Given the description of an element on the screen output the (x, y) to click on. 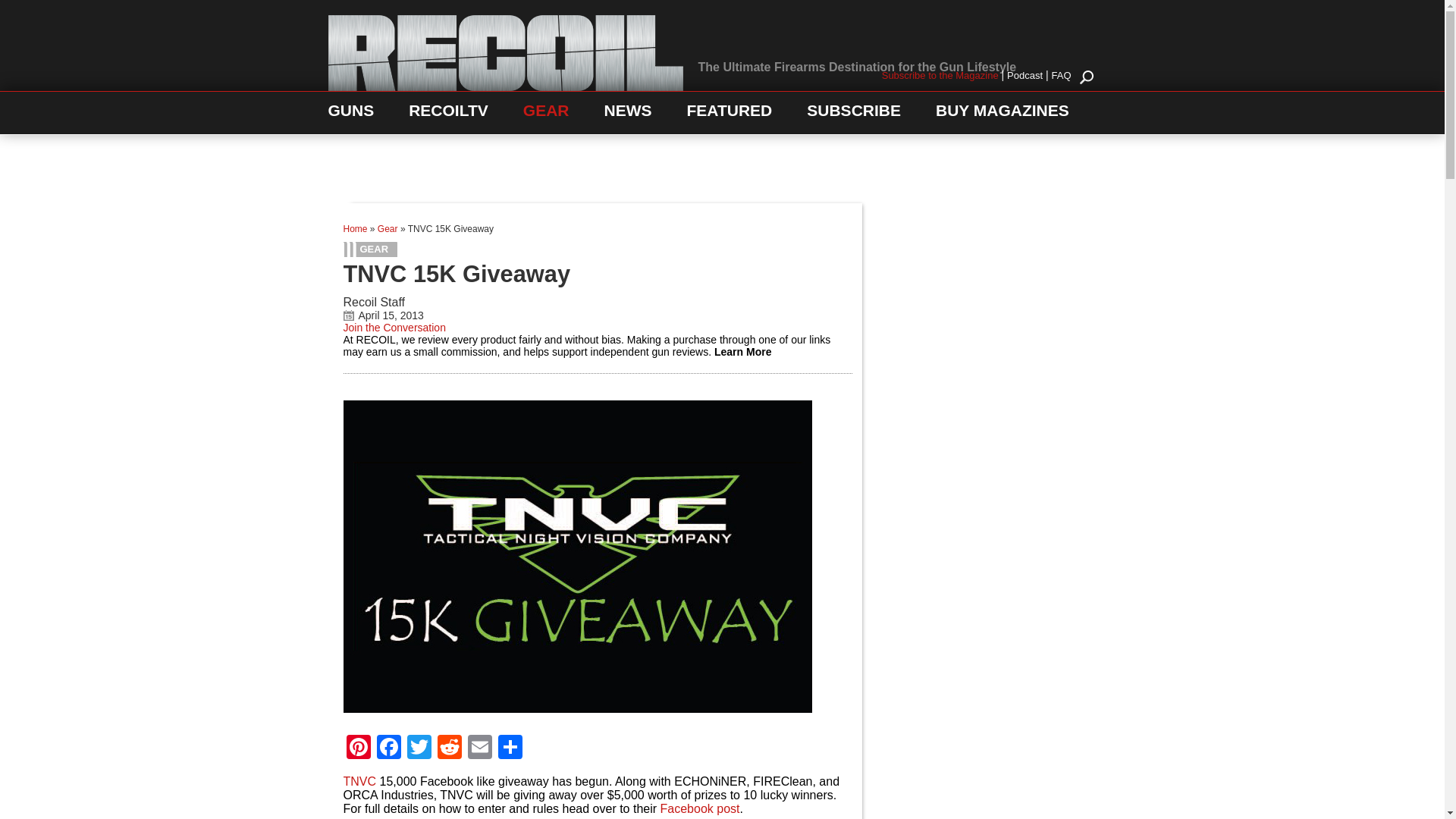
FEATURED (730, 114)
Guns (350, 114)
FAQ (1060, 75)
Gear (545, 114)
GUNS (350, 114)
GEAR (545, 114)
Subscribe to the Magazine (940, 75)
Gear (376, 249)
Home (354, 228)
BUY MAGAZINES (1002, 114)
NEWS (627, 114)
SUBSCRIBE (853, 114)
Podcast (1024, 75)
Gear (387, 228)
RECOILtv (448, 114)
